Given the description of an element on the screen output the (x, y) to click on. 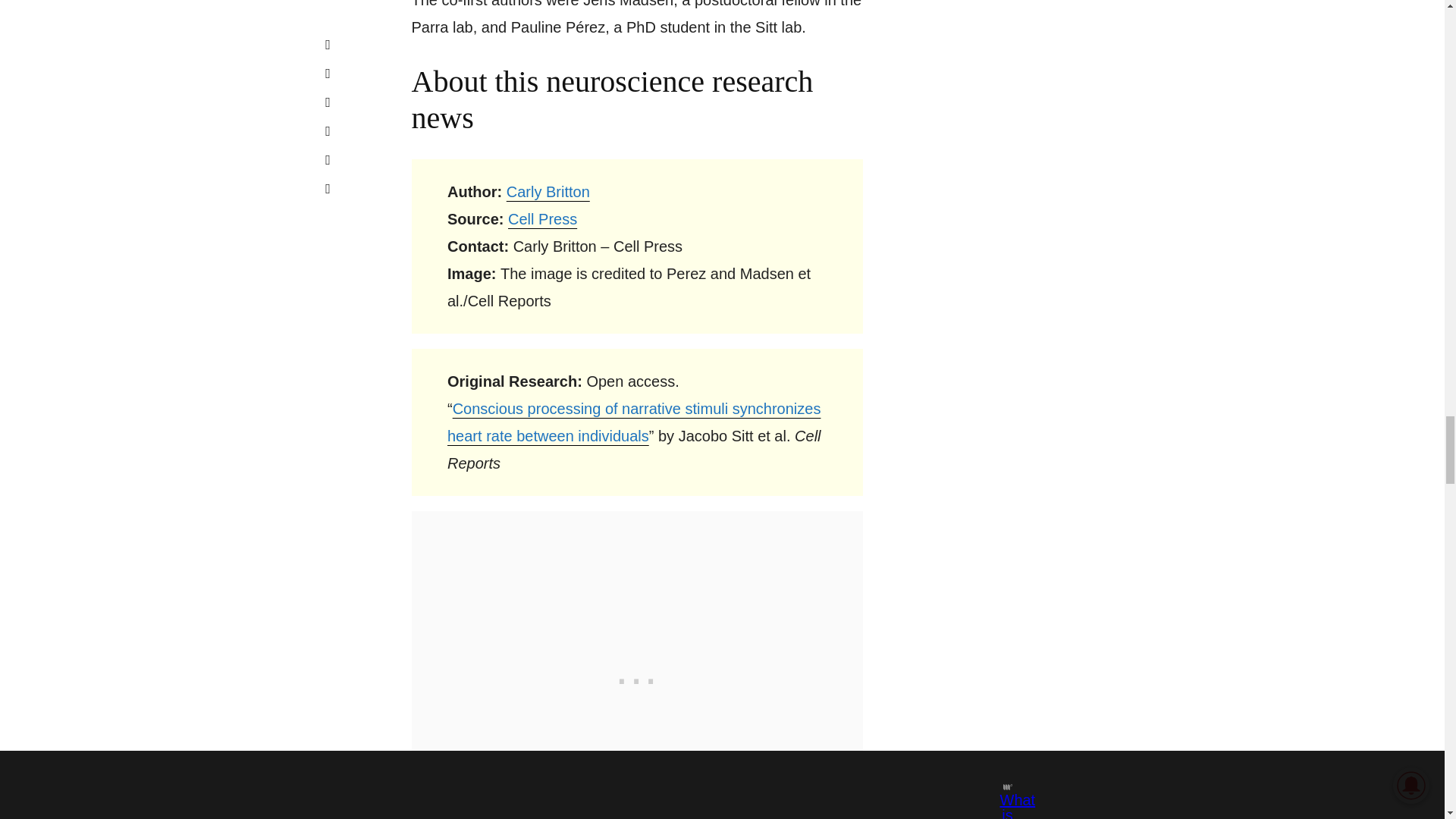
Cell Press (542, 218)
Carly Britton (547, 191)
